Given the description of an element on the screen output the (x, y) to click on. 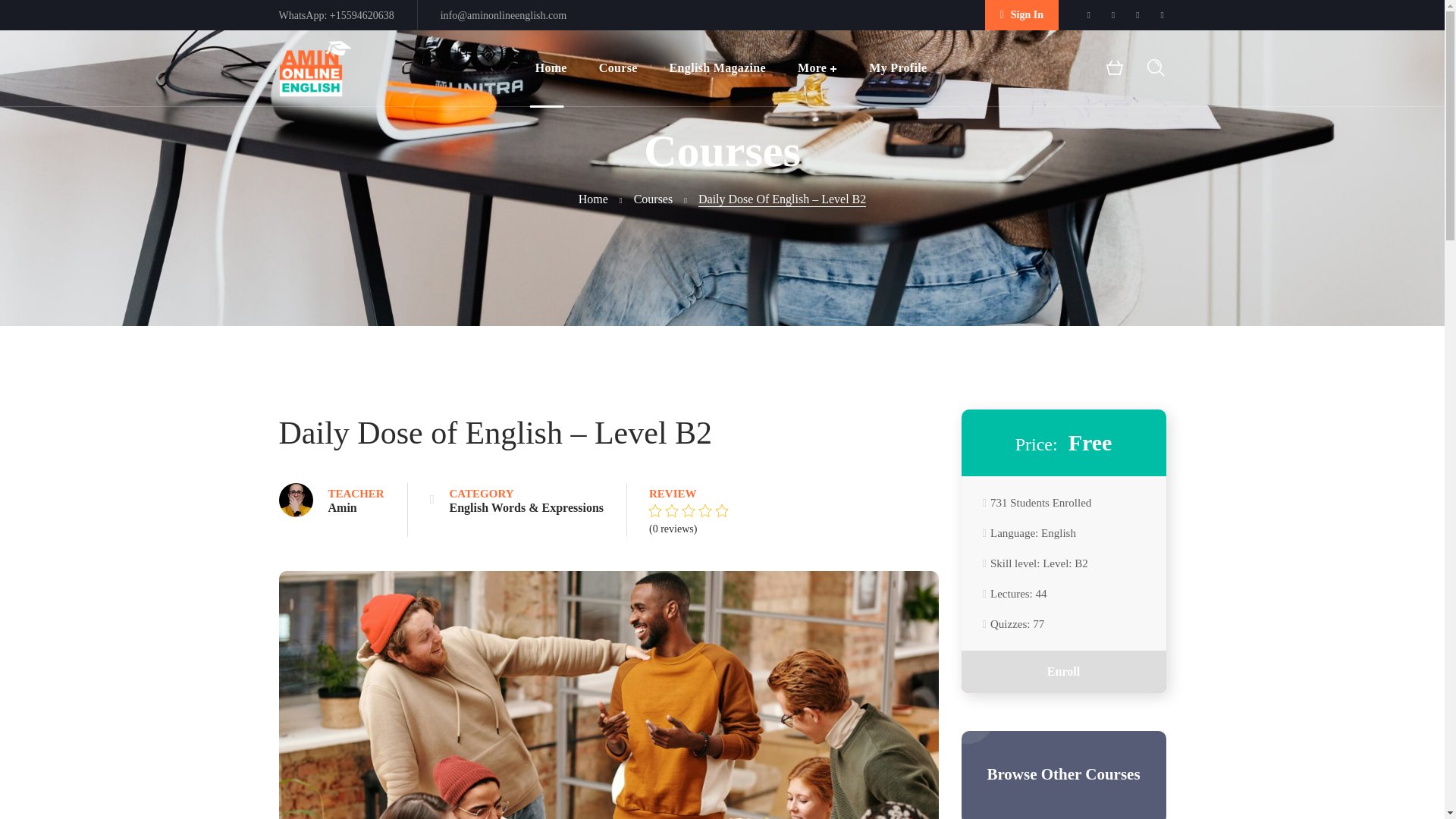
Open Shopping Cart (1114, 68)
English Magazine (717, 68)
Sign In (1021, 15)
More (817, 68)
Search (1102, 160)
0 out of 5 stars (688, 512)
My Profile (897, 68)
Course (618, 68)
Search (1102, 54)
Home (551, 68)
